Given the description of an element on the screen output the (x, y) to click on. 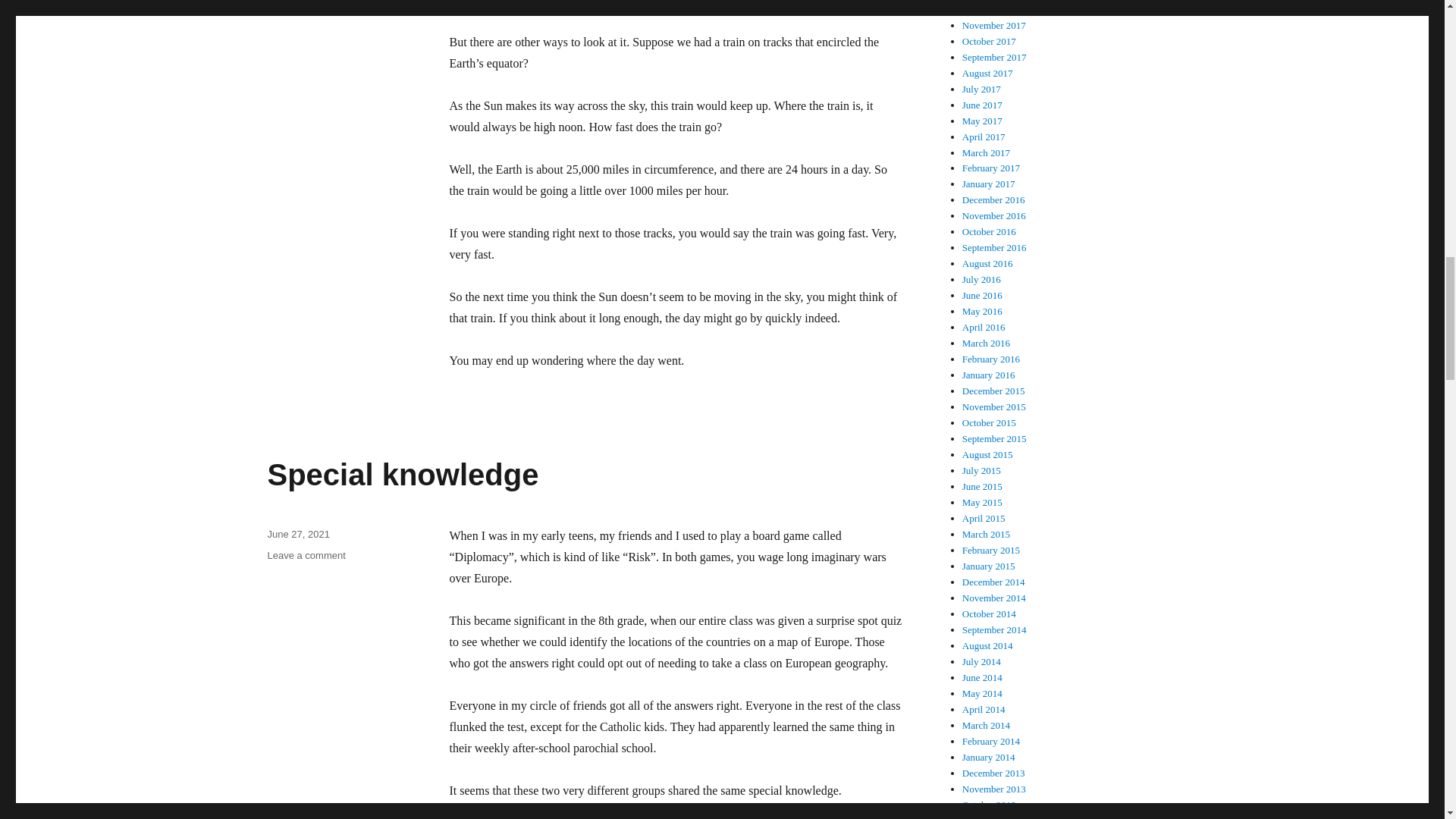
Special knowledge (402, 474)
June 27, 2021 (305, 555)
